Given the description of an element on the screen output the (x, y) to click on. 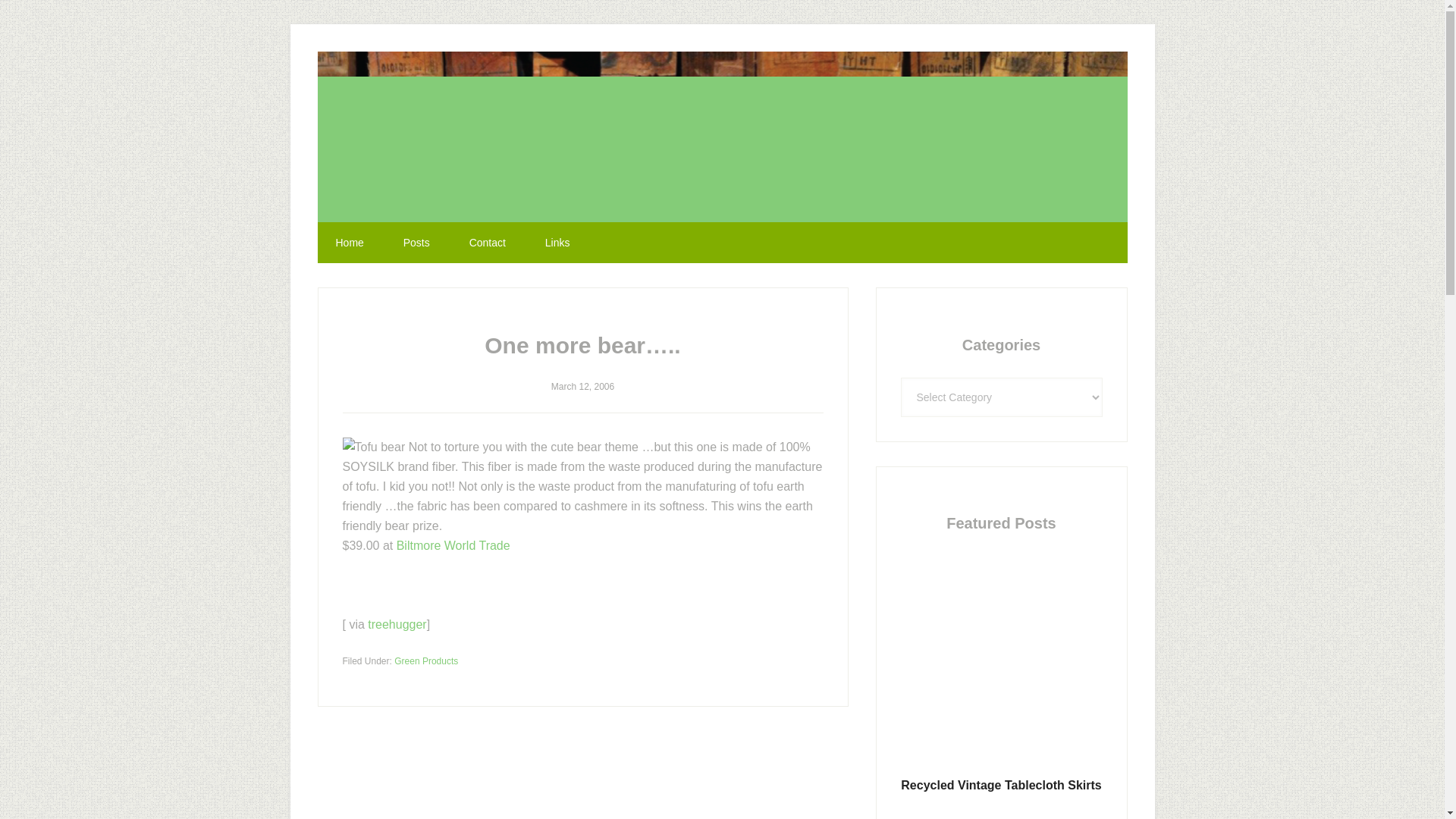
Posts (416, 241)
Links (557, 241)
Contact (487, 241)
Home (349, 241)
Contact (487, 241)
Biltmore World Trade (453, 545)
Recycled Vintage Tablecloth Skirts (1000, 784)
Green Products (426, 661)
Home (349, 241)
